Given the description of an element on the screen output the (x, y) to click on. 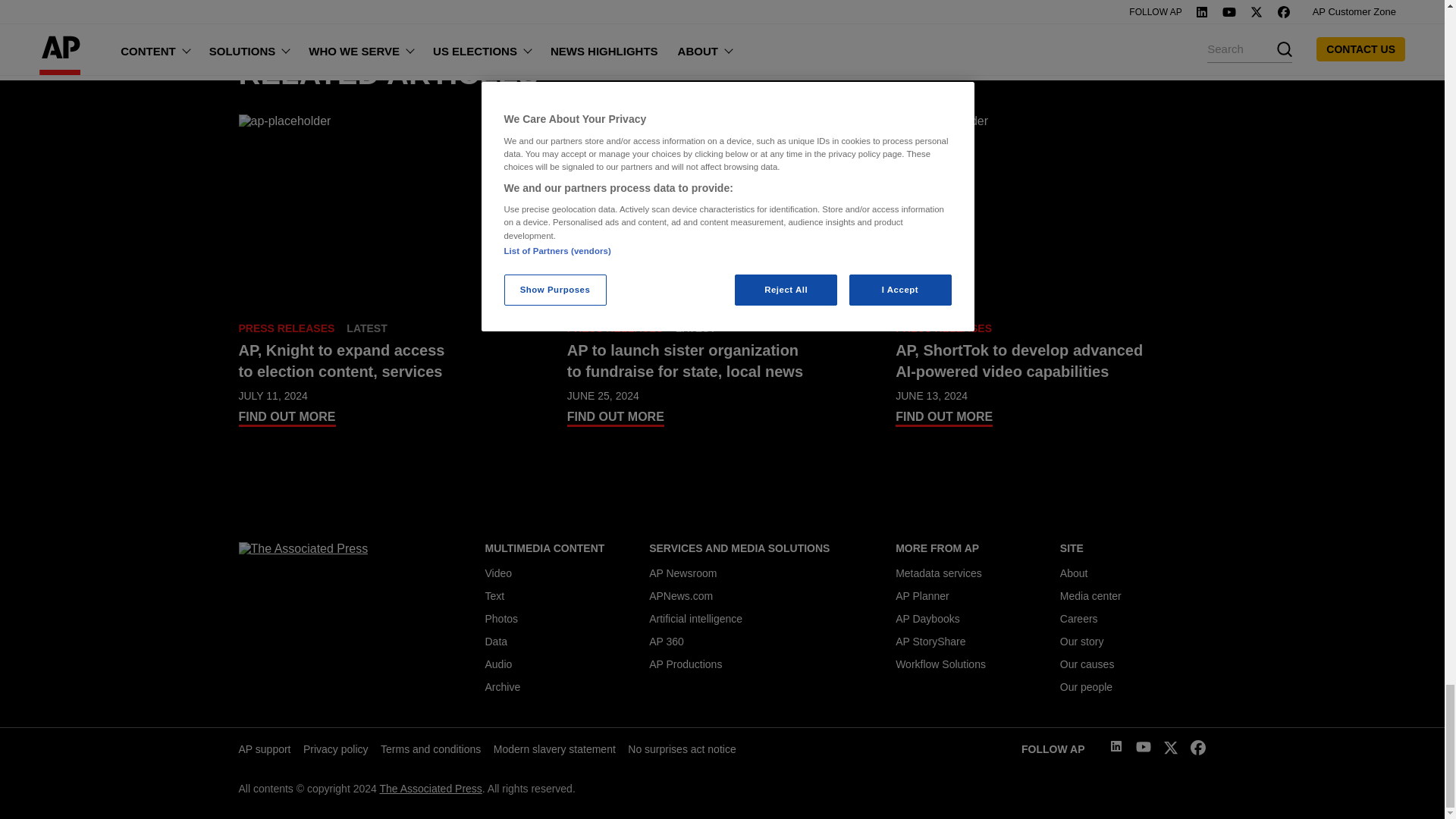
Linkedin (1116, 748)
Youtube (1143, 748)
Twitter (1170, 750)
Facebook (1198, 750)
